Given the description of an element on the screen output the (x, y) to click on. 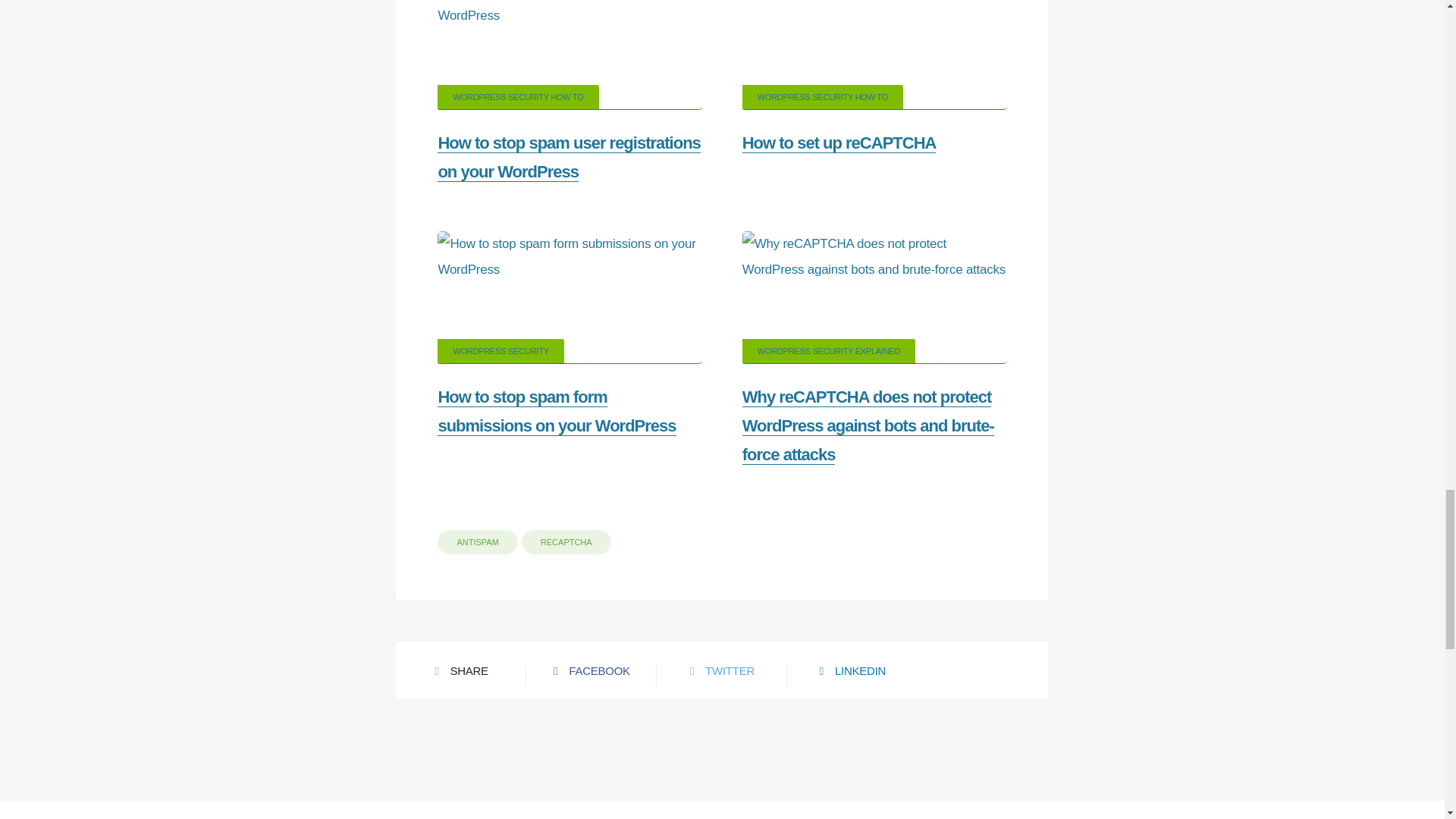
How to stop spam user registrations on your WordPress (569, 157)
How to set up reCAPTCHA (839, 143)
WORDPRESS SECURITY HOW TO (518, 97)
WORDPRESS SECURITY HOW TO (822, 97)
